Given the description of an element on the screen output the (x, y) to click on. 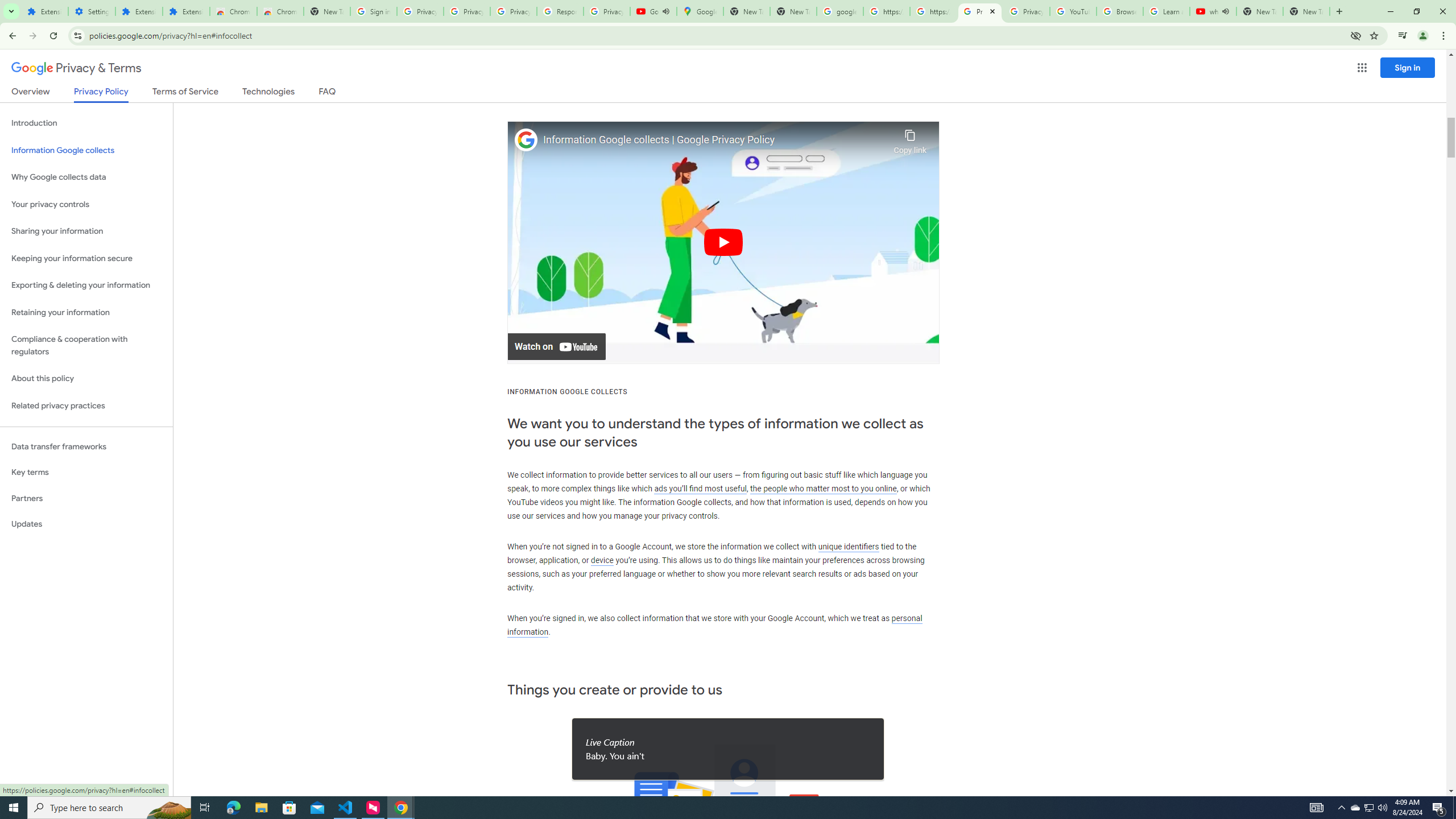
Extensions (44, 11)
the people who matter most to you online (822, 488)
Key terms (86, 472)
Browse Chrome as a guest - Computer - Google Chrome Help (1120, 11)
